Given the description of an element on the screen output the (x, y) to click on. 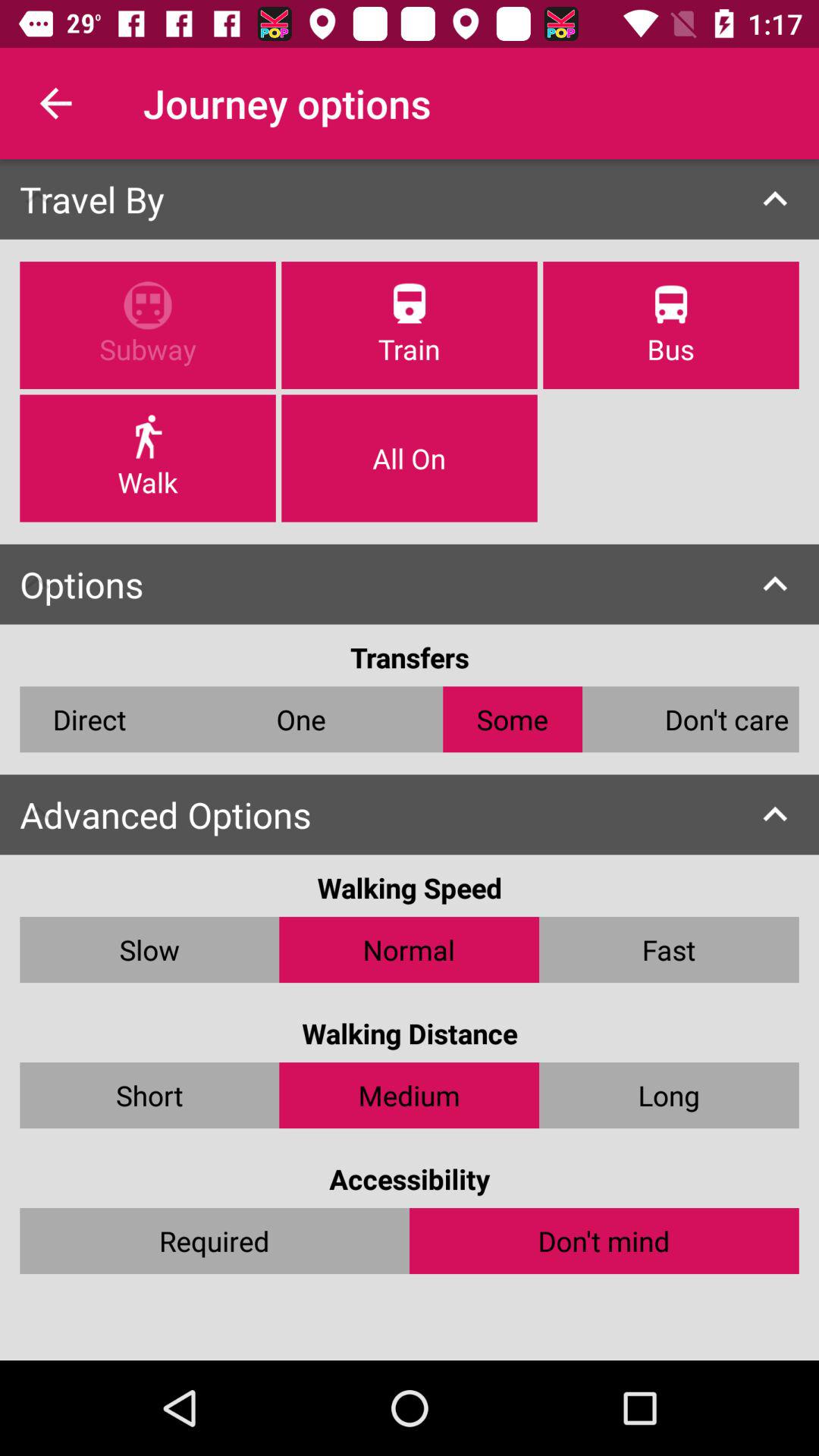
open item to the right of slow (409, 949)
